Given the description of an element on the screen output the (x, y) to click on. 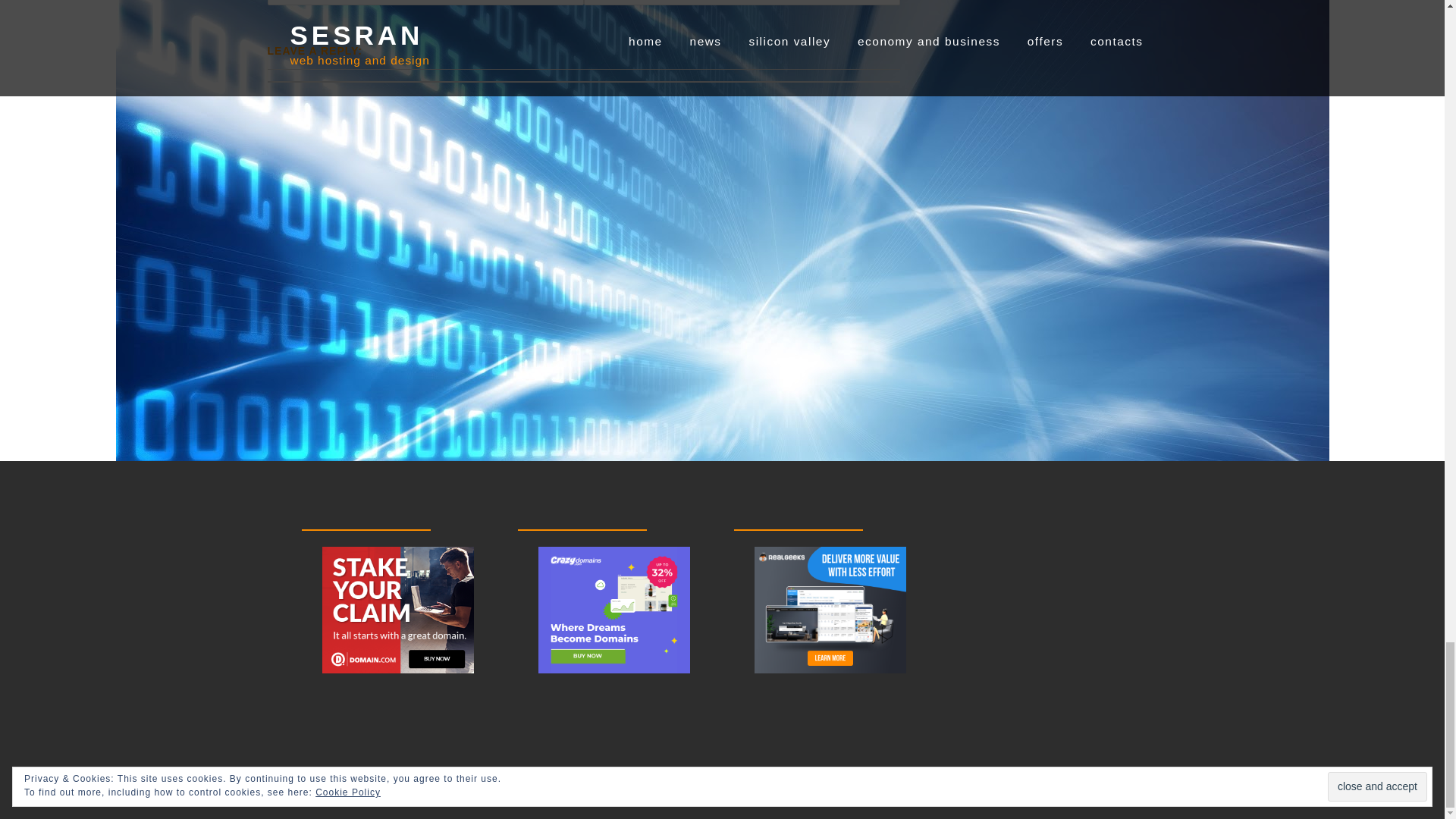
ROSS: TRUMP BACKS EXIM BANK TO BOOST US EXPORTS (741, 2)
